Given the description of an element on the screen output the (x, y) to click on. 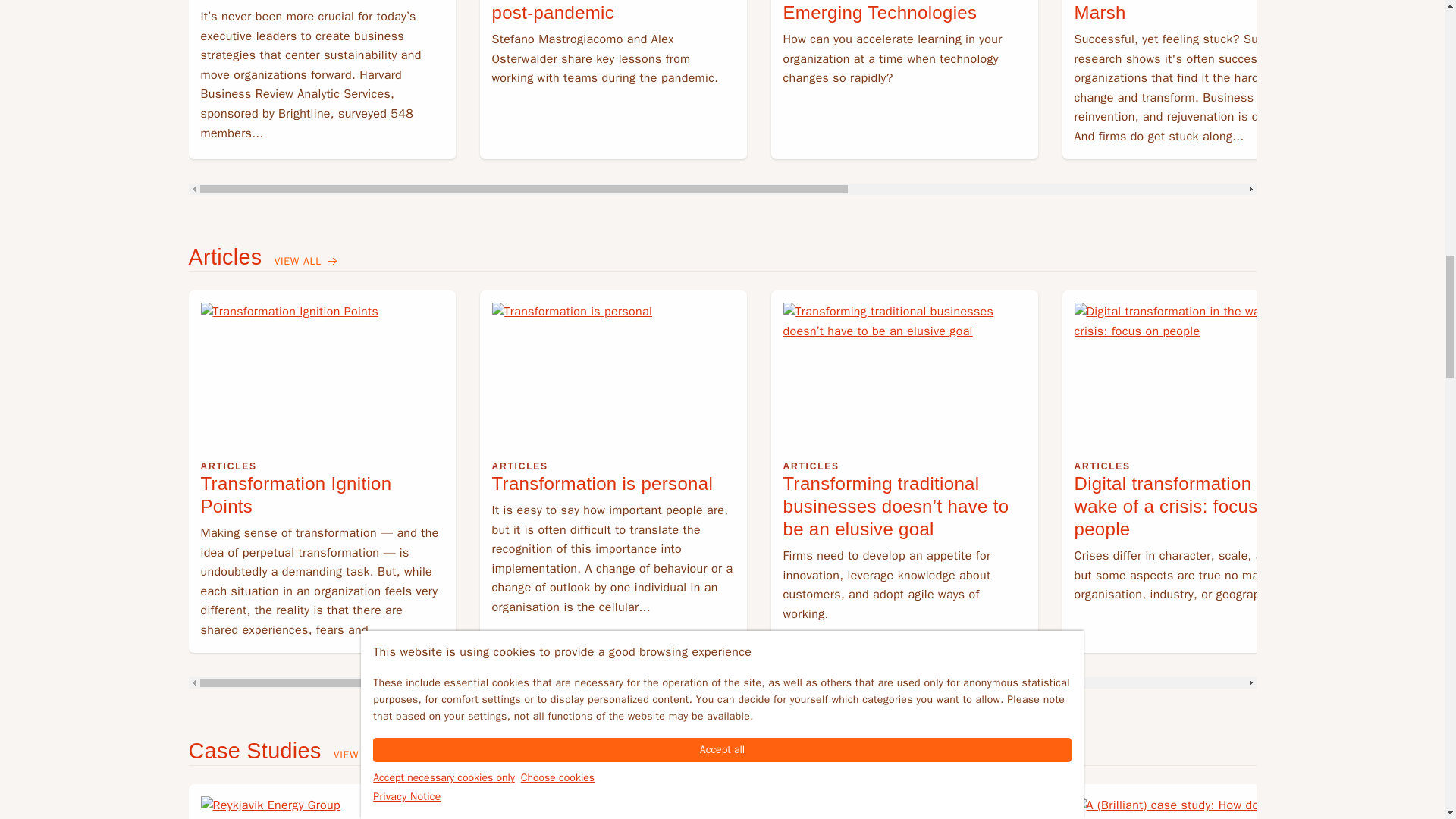
View all Case Studies (365, 755)
View all Articles (306, 261)
